Given the description of an element on the screen output the (x, y) to click on. 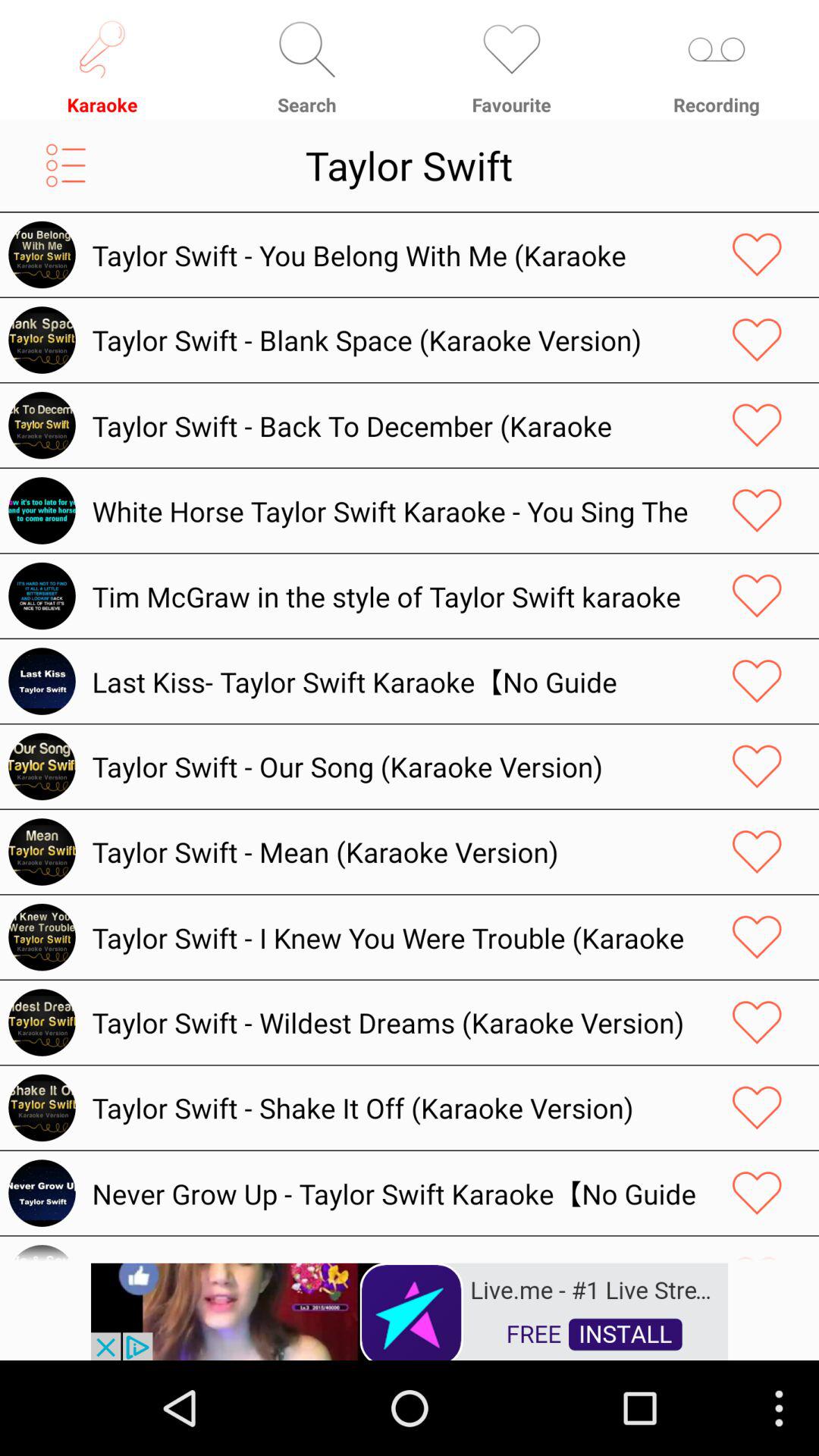
like the page (756, 937)
